Given the description of an element on the screen output the (x, y) to click on. 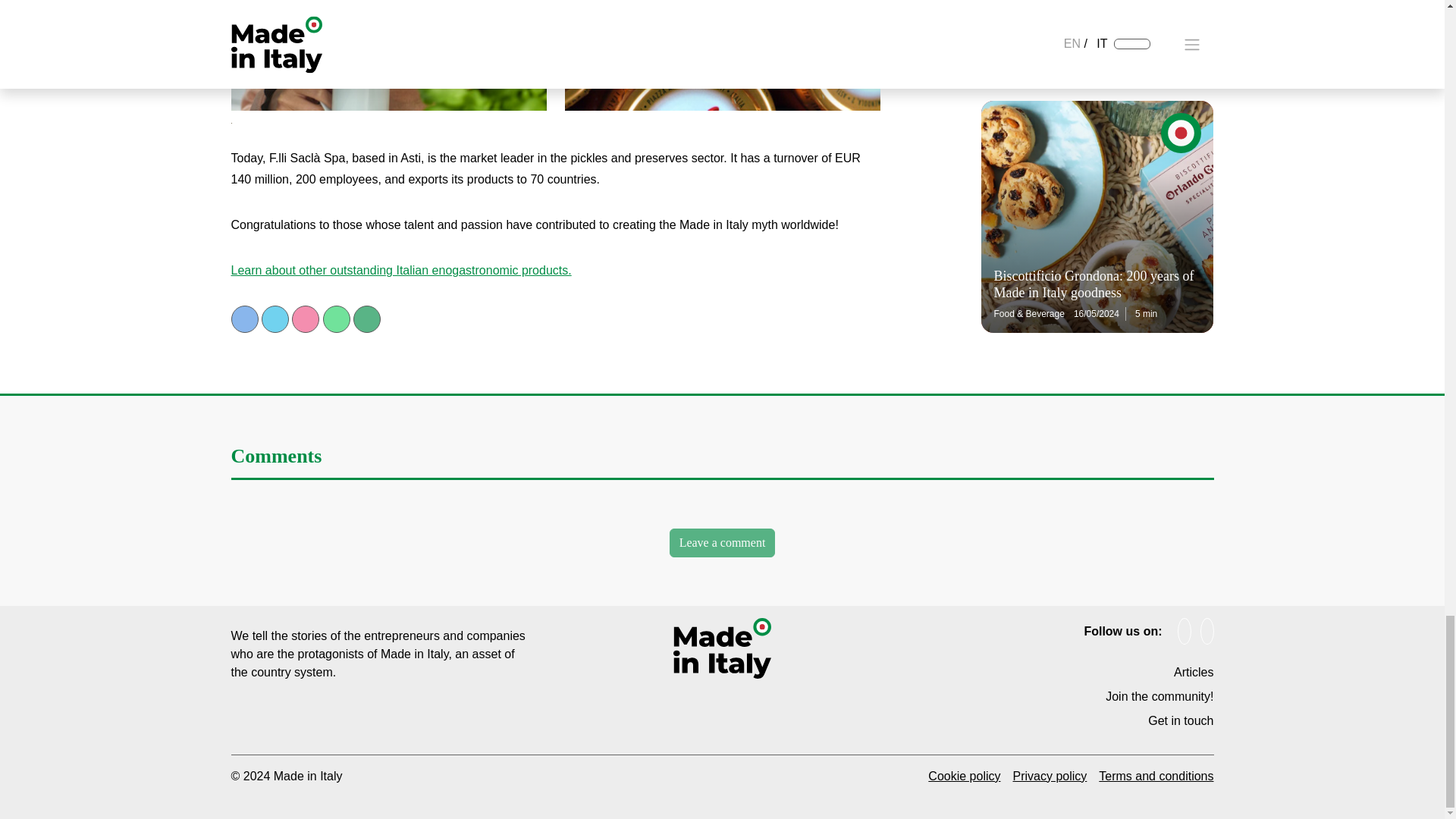
Share on Twitter (275, 318)
Share on WhatsApp (336, 318)
Share via Email (366, 318)
Share on Pinterest (305, 318)
Share on Facebook (243, 318)
